Given the description of an element on the screen output the (x, y) to click on. 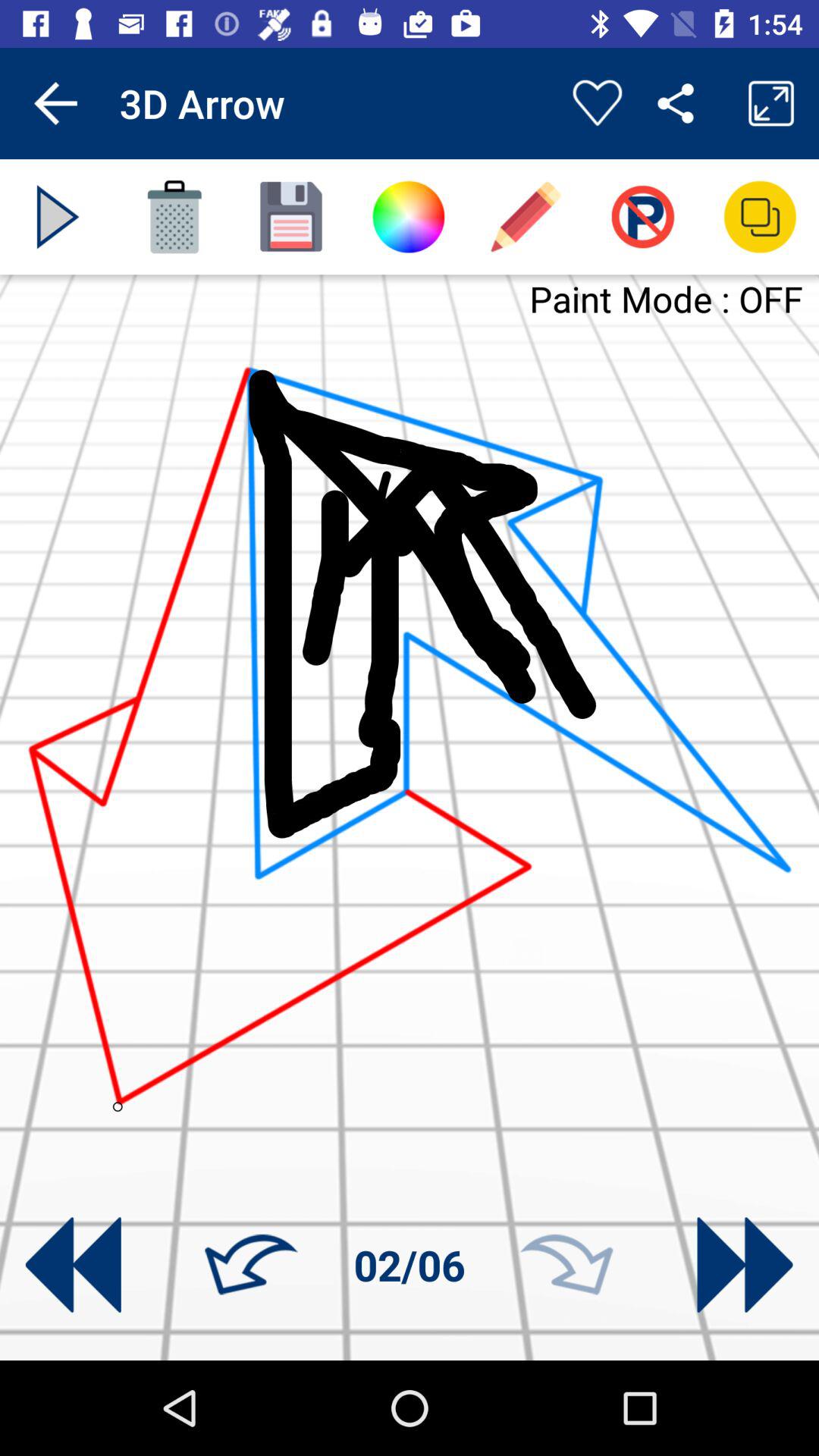
copy (759, 216)
